Given the description of an element on the screen output the (x, y) to click on. 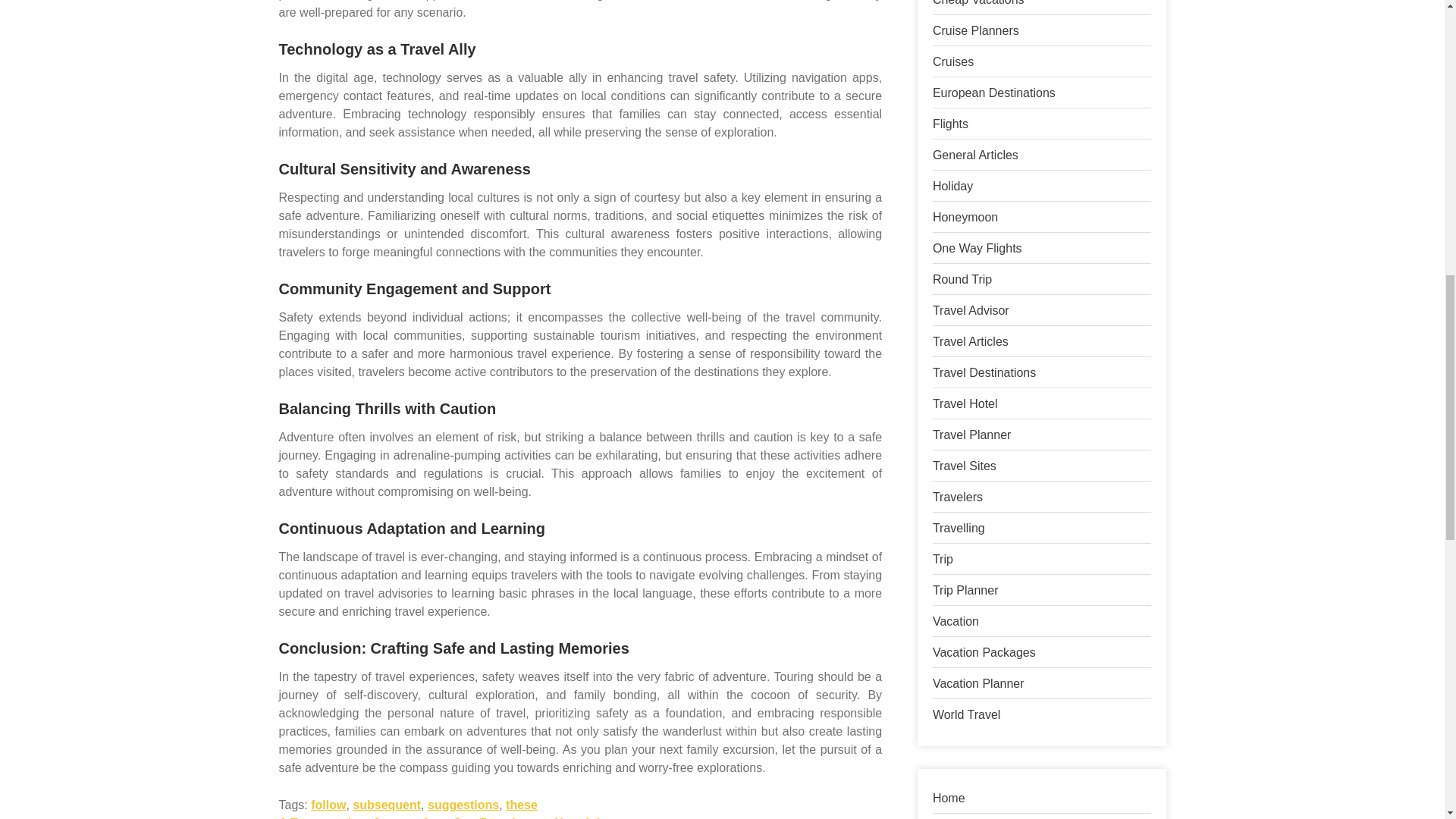
suggestions (463, 804)
follow (328, 804)
these (521, 804)
subsequent (386, 804)
